Given the description of an element on the screen output the (x, y) to click on. 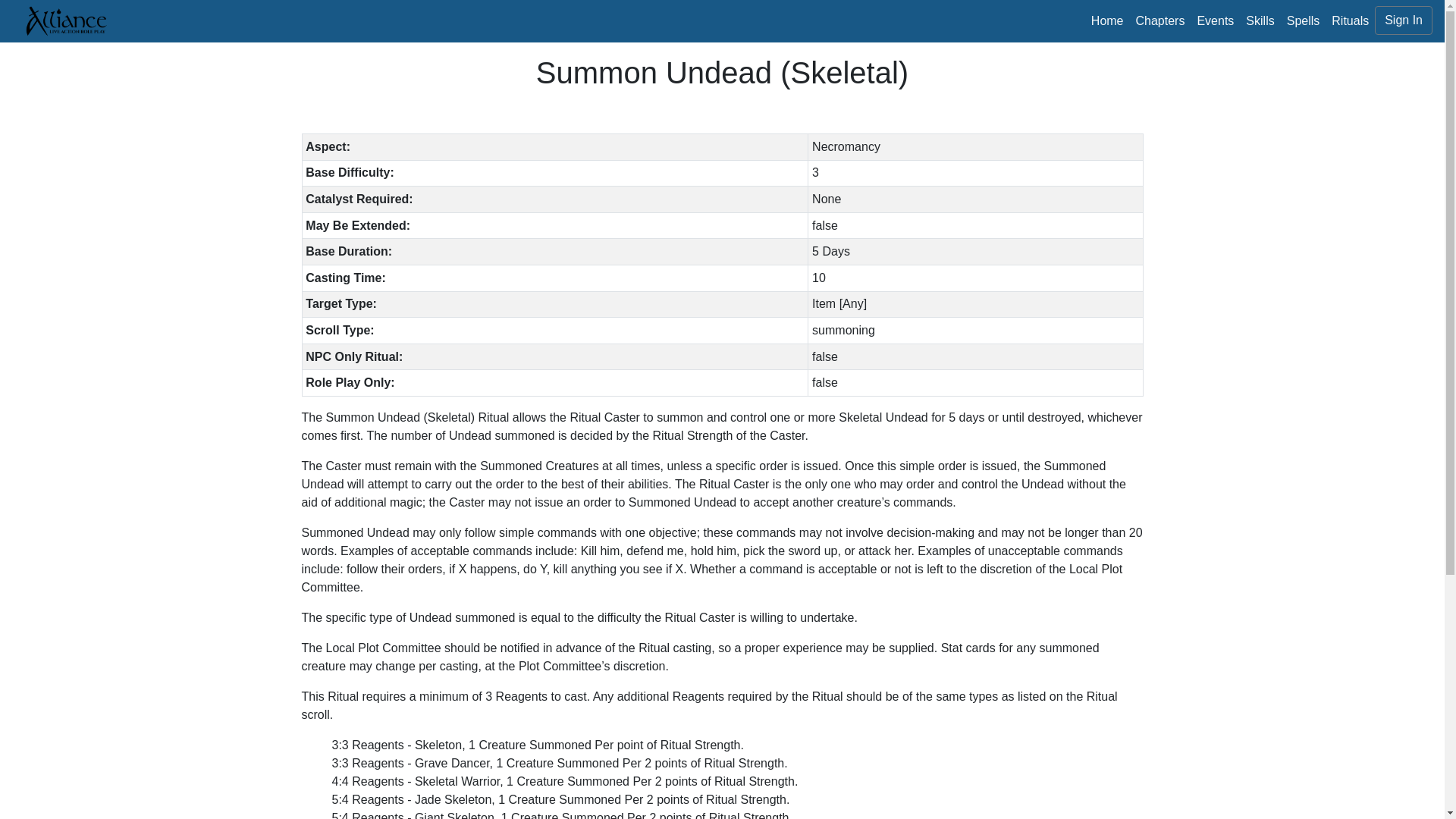
Rituals (1349, 20)
Chapters (1160, 20)
Sign In (1403, 20)
Events (1215, 20)
Skills (1259, 20)
Home (1106, 20)
Spells (1303, 20)
